Given the description of an element on the screen output the (x, y) to click on. 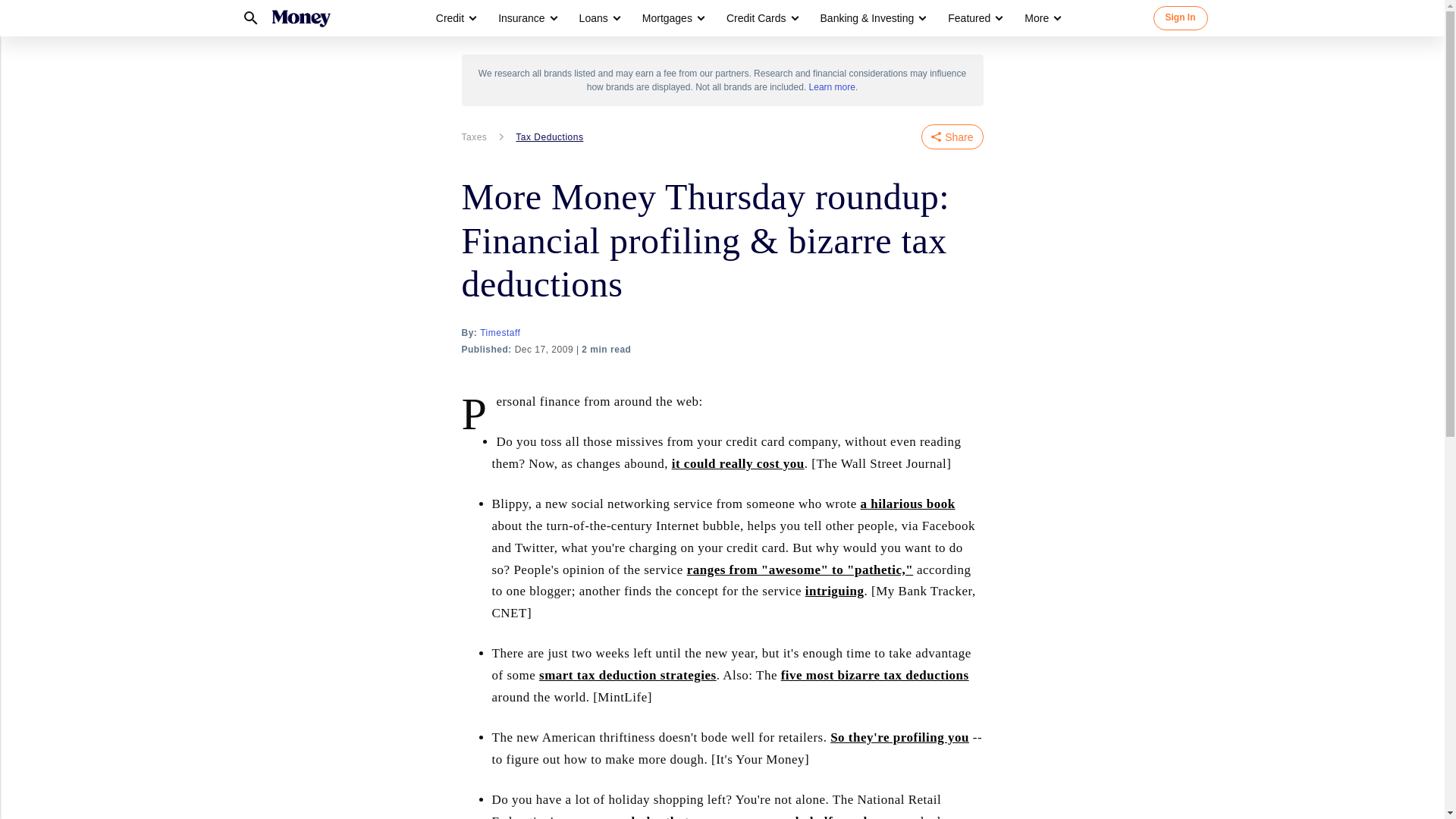
Credit (455, 18)
Mortgages (667, 18)
Credit Cards (761, 18)
Mortgages (672, 18)
Insurance (526, 18)
Credit (449, 18)
Loans (593, 18)
Insurance (520, 18)
Loans (598, 18)
Credit Cards (756, 18)
